Given the description of an element on the screen output the (x, y) to click on. 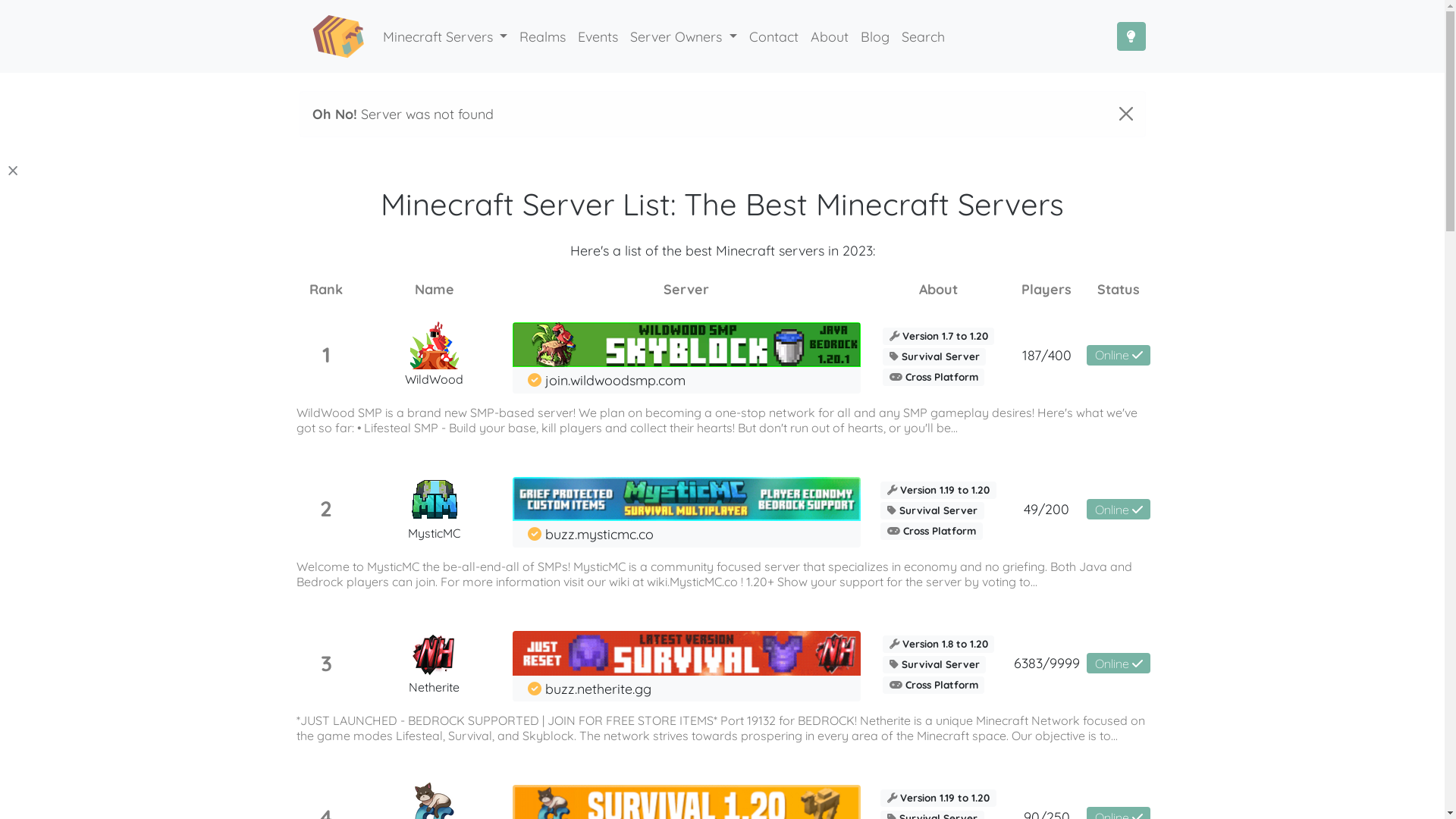
Events Element type: text (597, 36)
Realms Element type: text (542, 36)
Survival Server Element type: text (934, 354)
Online Element type: text (1118, 663)
Online Element type: text (1118, 355)
join.wildwoodsmp.com Element type: text (606, 379)
Survival Server Element type: text (932, 508)
Minecraft Servers Element type: text (444, 36)
Search Element type: text (922, 36)
buzz.mysticmc.co Element type: text (590, 533)
Blog Element type: text (874, 36)
Online Element type: text (1118, 509)
buzz.netherite.gg Element type: text (589, 688)
Server Owners Element type: text (683, 36)
About Element type: text (829, 36)
Contact Element type: text (773, 36)
Survival Server Element type: text (934, 662)
